Given the description of an element on the screen output the (x, y) to click on. 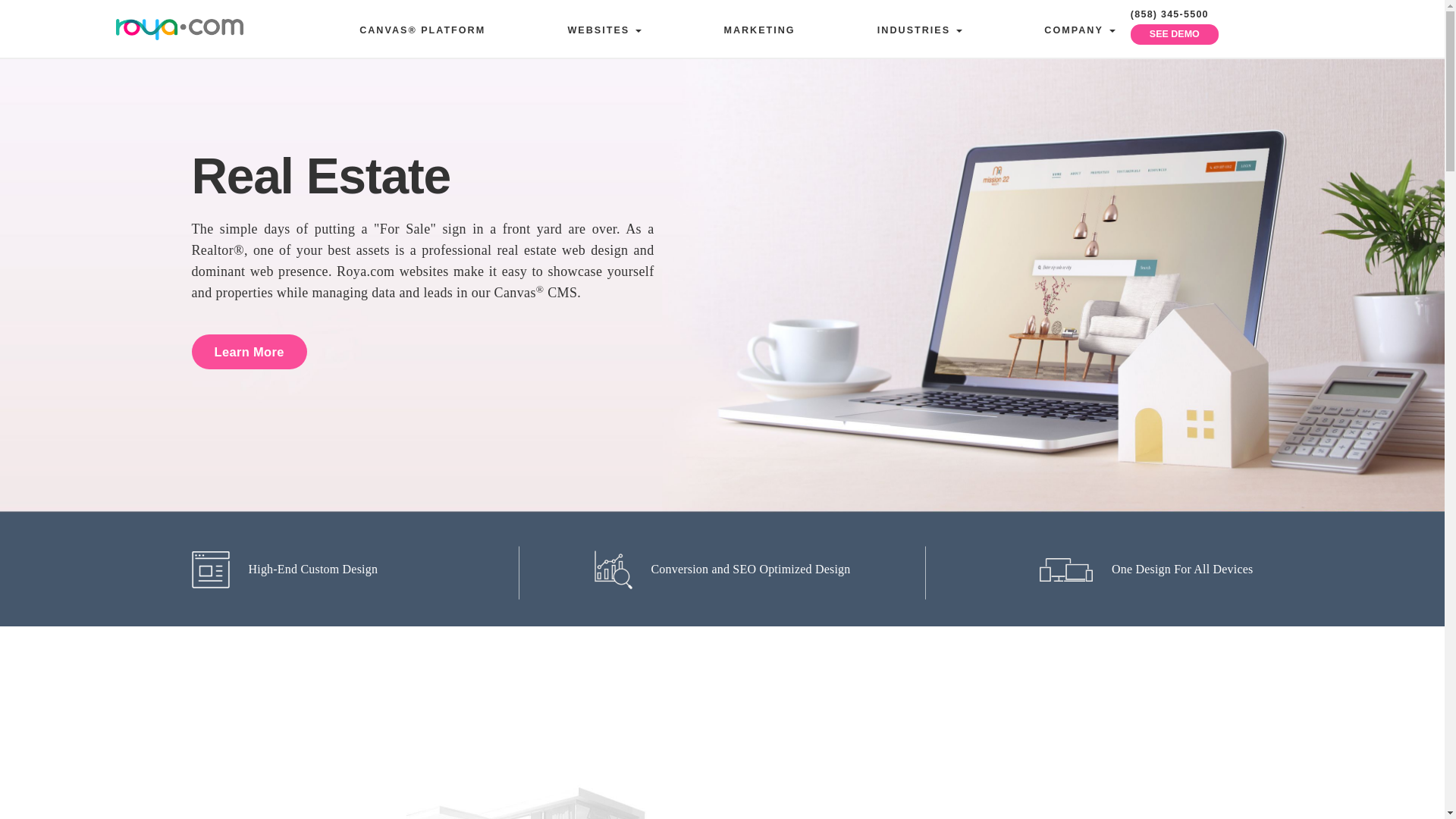
INDUSTRIES (920, 29)
WEBSITES (604, 29)
MARKETING (758, 29)
